Given the description of an element on the screen output the (x, y) to click on. 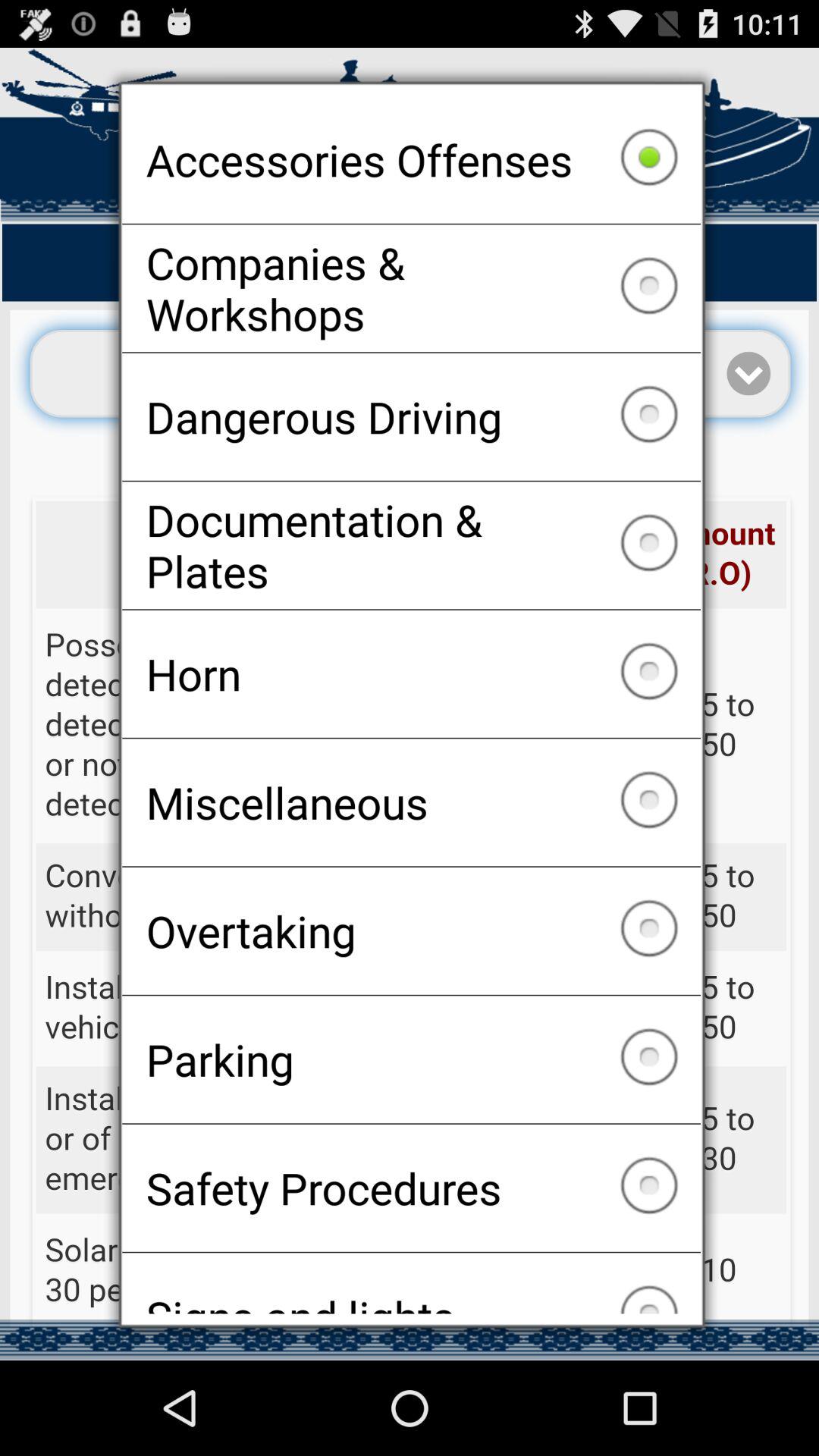
turn off the miscellaneous (411, 802)
